Given the description of an element on the screen output the (x, y) to click on. 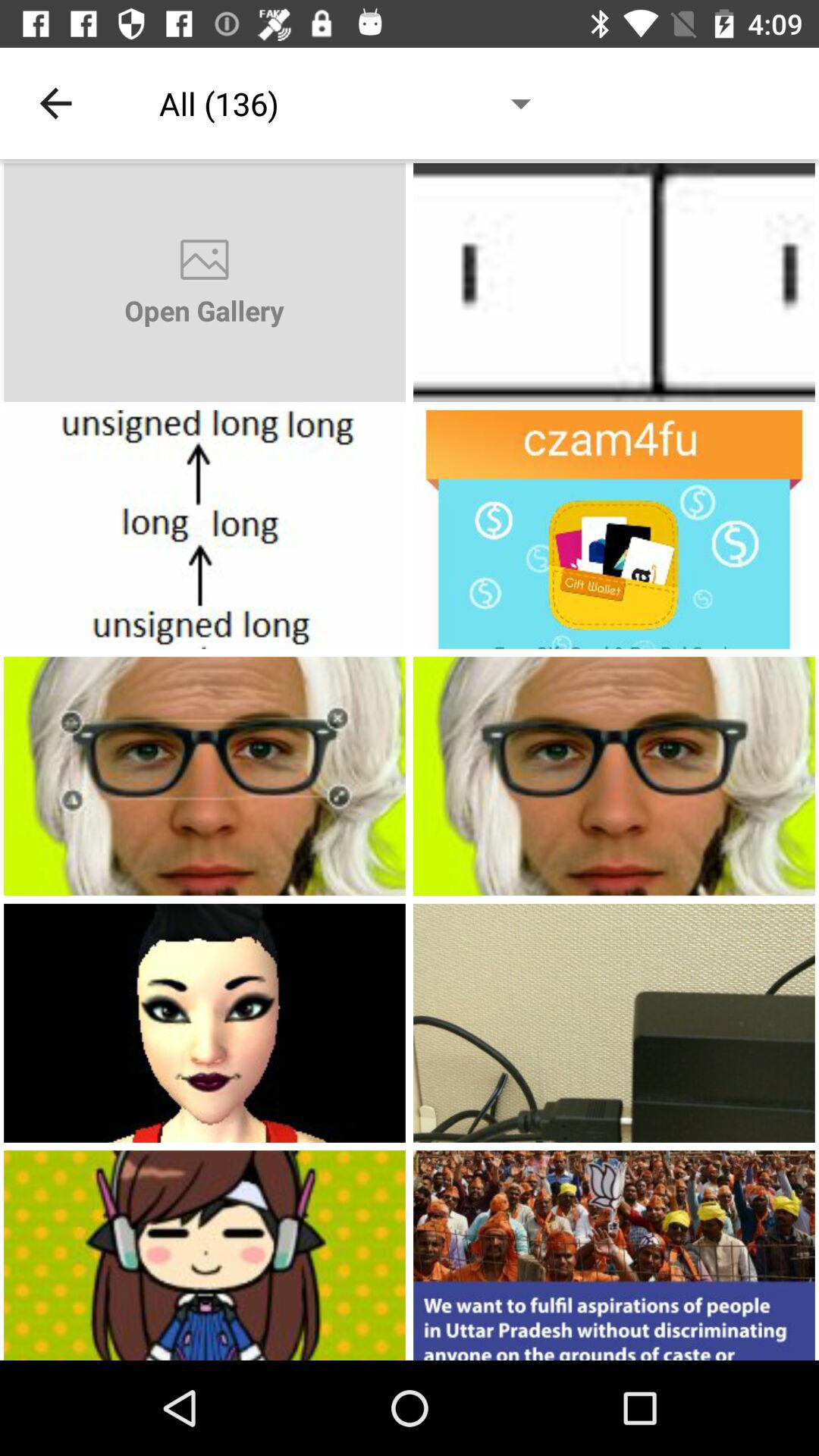
open photo (204, 529)
